Given the description of an element on the screen output the (x, y) to click on. 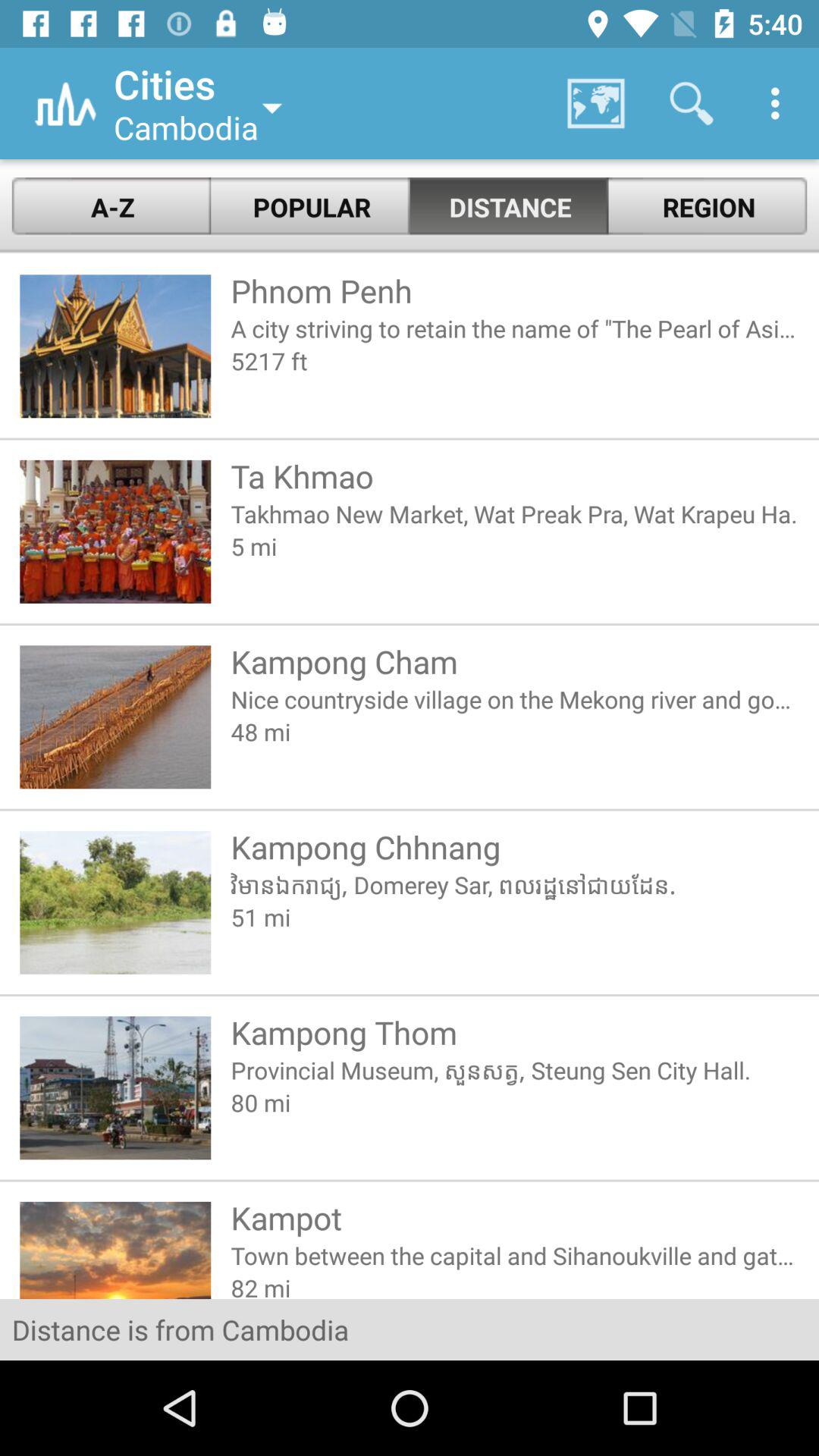
flip to the 5217 ft (514, 360)
